Given the description of an element on the screen output the (x, y) to click on. 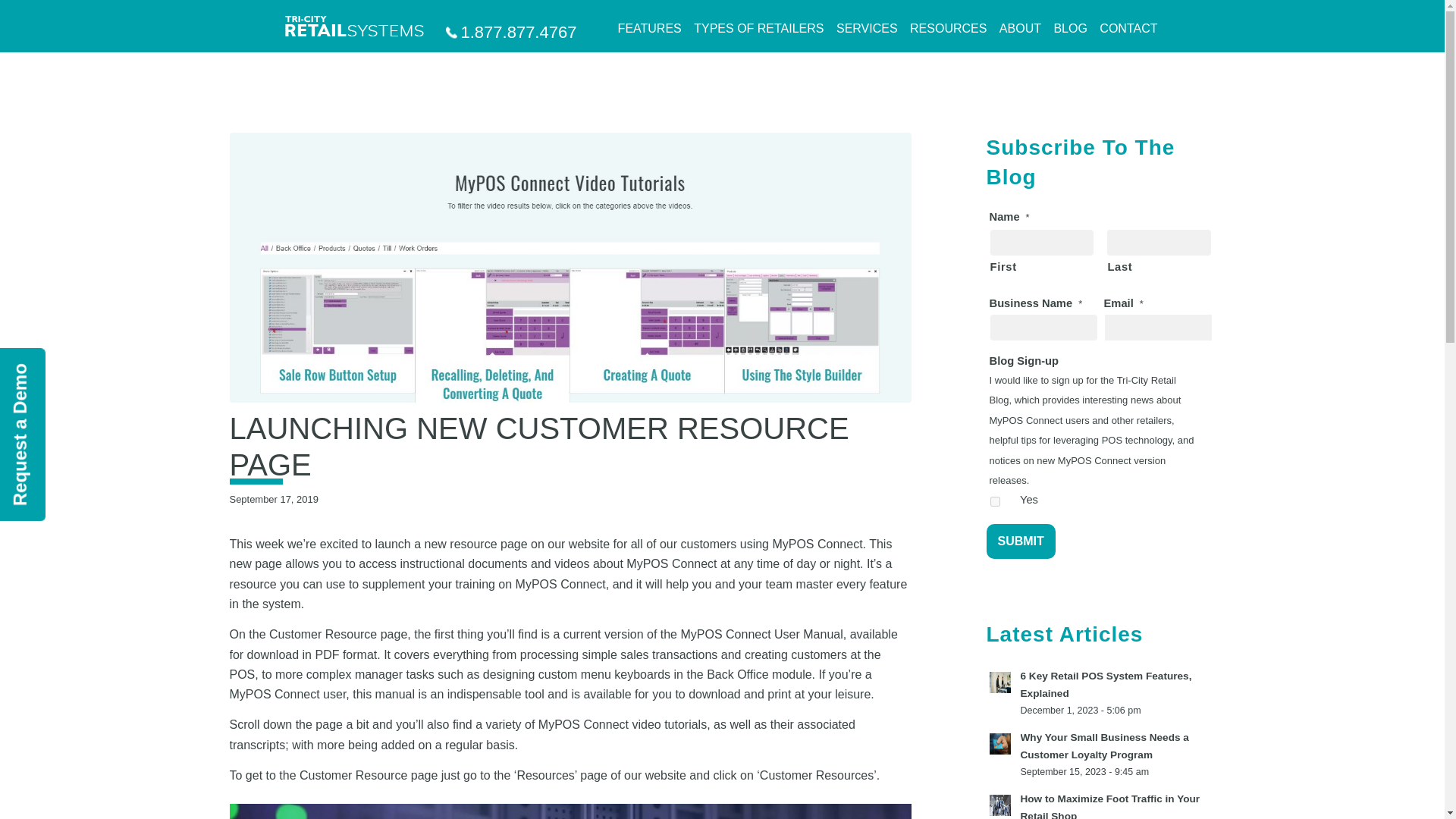
Read: How to Maximize Foot Traffic in Your Retail Shop (1109, 806)
BLOG (1069, 29)
ABOUT (1019, 29)
tri-city-website-logo (354, 25)
CONTACT (1127, 29)
How to Maximize Foot Traffic in Your Retail Shop (1109, 806)
Read: How to Maximize Foot Traffic in Your Retail Shop (999, 805)
SERVICES (866, 29)
tri-city-website-logo (354, 26)
Read: 6 Key Retail POS System Features, Explained (1106, 684)
FEATURES (648, 29)
Submit (1019, 541)
Submit (1019, 541)
